Given the description of an element on the screen output the (x, y) to click on. 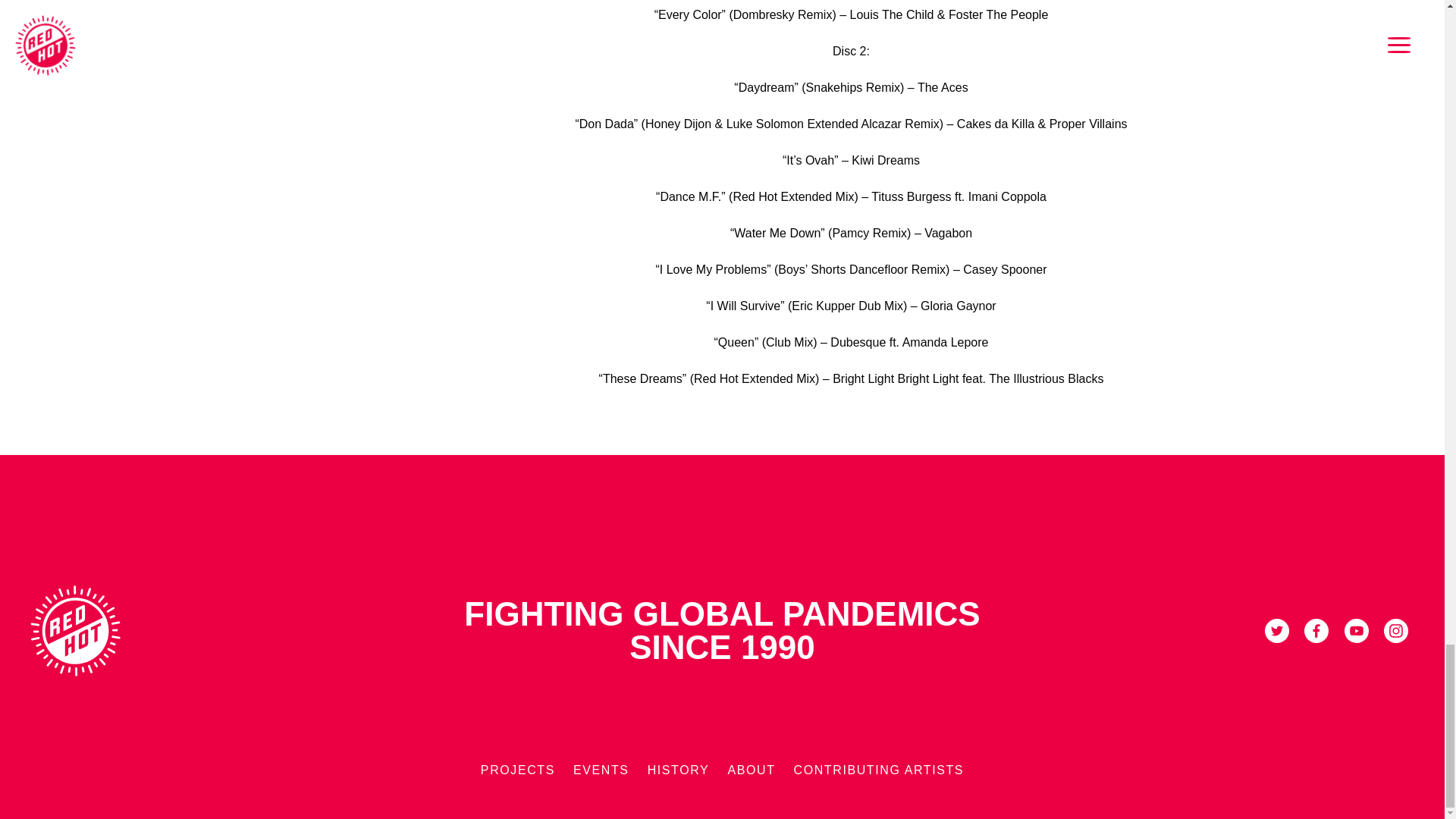
CONTRIBUTING ARTISTS (878, 769)
PROJECTS (517, 769)
HISTORY (678, 769)
EVENTS (600, 769)
ABOUT (750, 769)
